Given the description of an element on the screen output the (x, y) to click on. 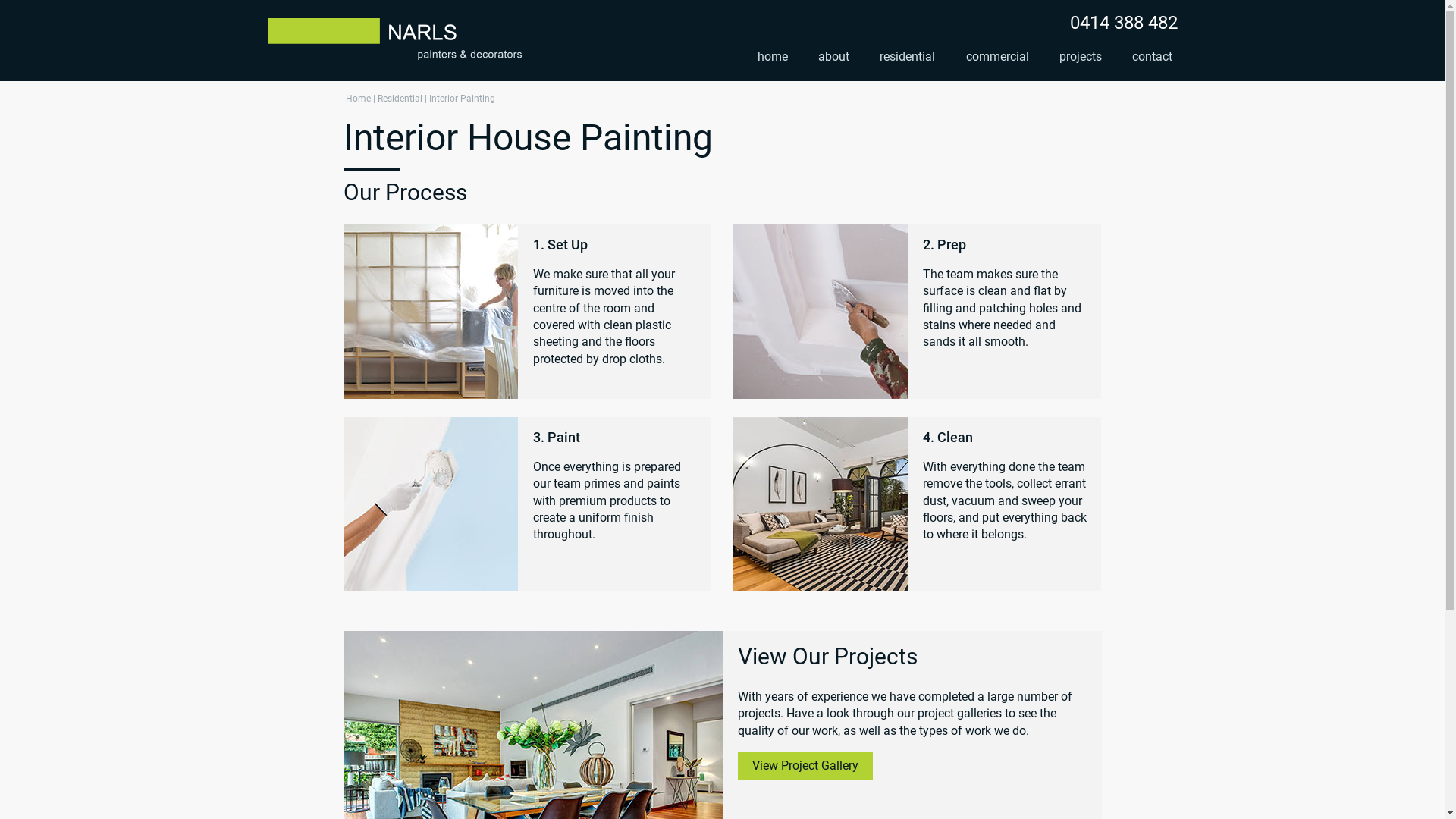
home Element type: text (771, 57)
commercial Element type: text (997, 57)
projects Element type: text (1080, 57)
Residential Element type: text (399, 98)
residential Element type: text (907, 57)
View Project Gallery Element type: text (804, 765)
Home Element type: text (357, 98)
contact Element type: text (1151, 57)
about Element type: text (833, 57)
0414 388 482 Element type: text (1122, 22)
Interior Painting Element type: text (462, 98)
